Given the description of an element on the screen output the (x, y) to click on. 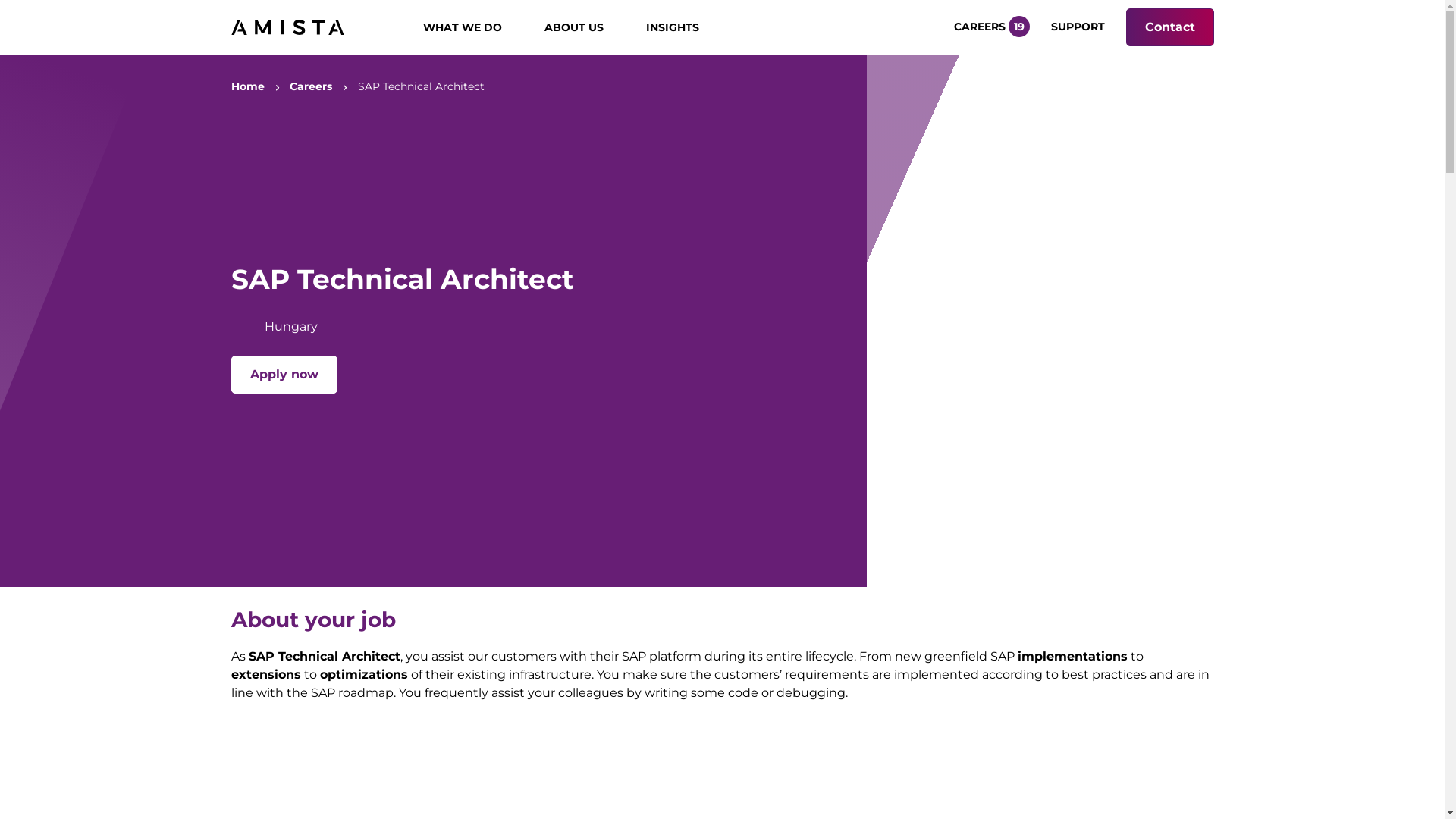
Contact Element type: text (1169, 27)
SUPPORT Element type: text (1079, 26)
Home Element type: text (246, 86)
INSIGHTS Element type: text (681, 27)
Apply now Element type: text (283, 374)
ABOUT US Element type: text (582, 27)
WHAT WE DO Element type: text (471, 27)
Careers Element type: text (310, 86)
Amista Element type: hover (286, 26)
CAREERS
19 Element type: text (992, 26)
Amista SAP Consultant at work (35) Element type: hover (1076, 320)
